Given the description of an element on the screen output the (x, y) to click on. 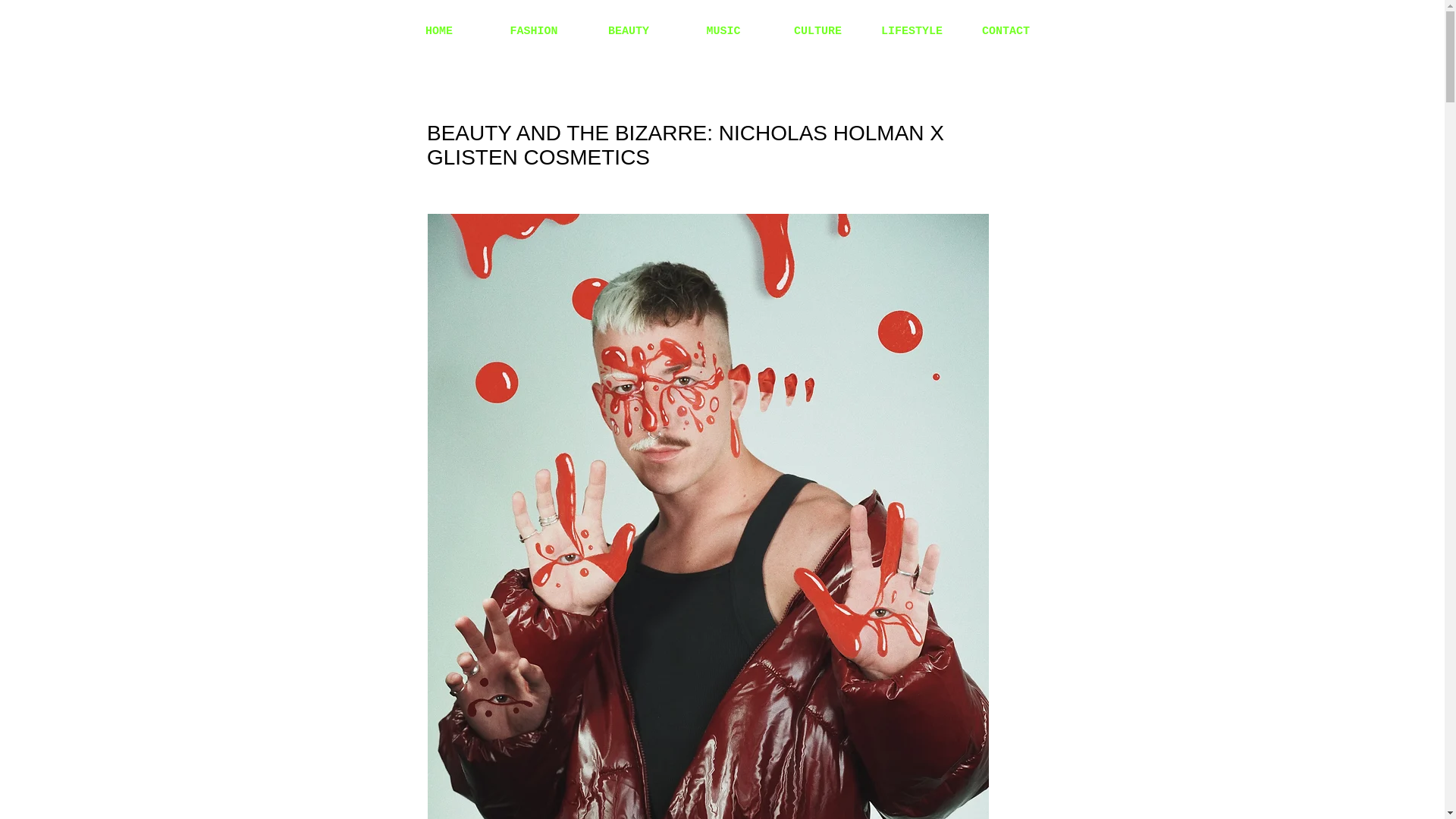
BEAUTY (627, 31)
CONTACT (1005, 31)
MUSIC (724, 31)
FASHION (533, 31)
CULTURE (817, 31)
HOME (438, 31)
LIFESTYLE (911, 31)
